Given the description of an element on the screen output the (x, y) to click on. 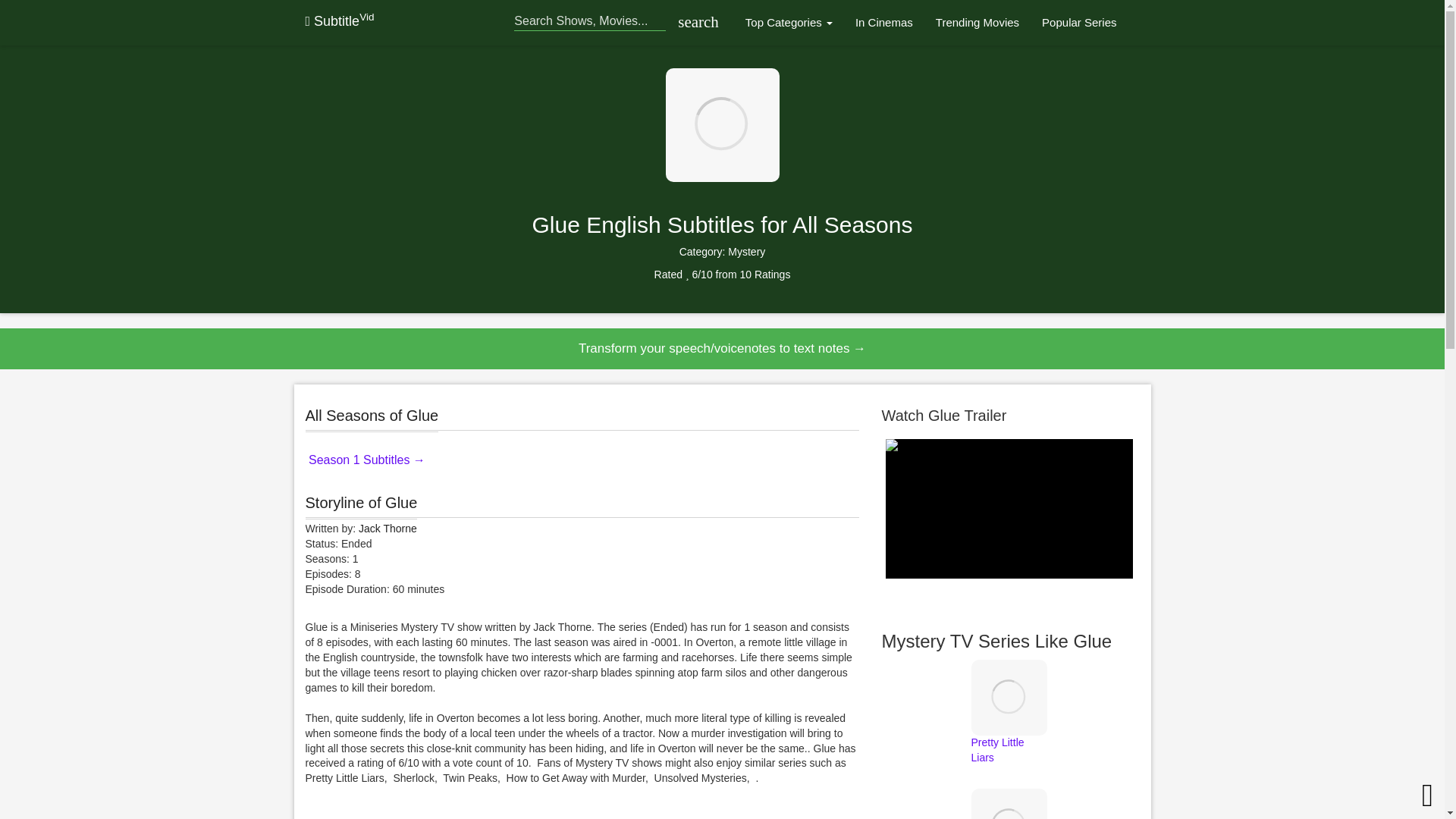
Pretty Little Liars (1008, 727)
search (695, 22)
In Cinemas (884, 22)
Jack Thorne (387, 528)
Top Categories (788, 22)
SubtitleVid (339, 20)
Trending Movies (977, 22)
Popular Series (1078, 22)
